Given the description of an element on the screen output the (x, y) to click on. 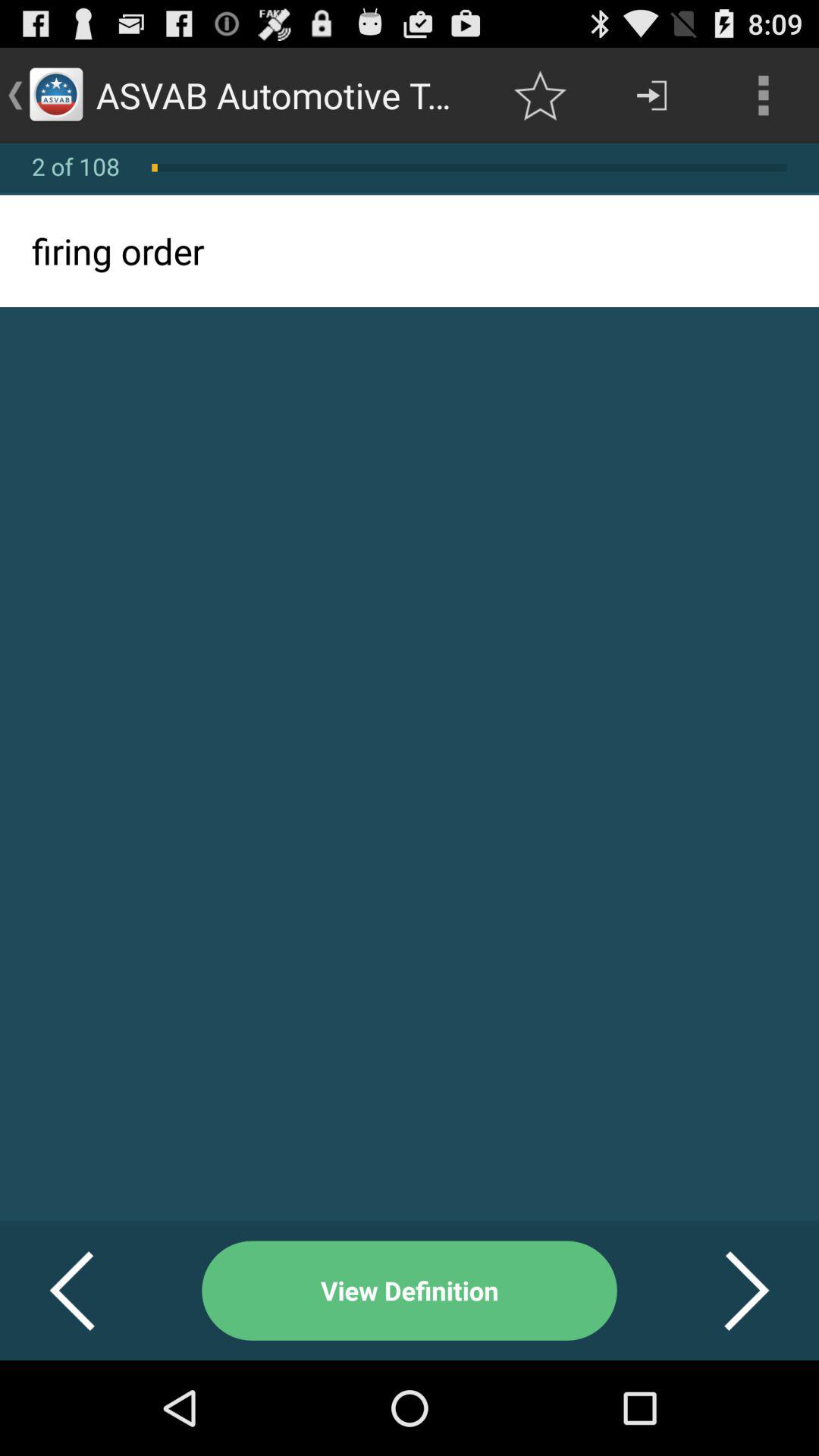
turn off the icon at the bottom right corner (728, 1290)
